Given the description of an element on the screen output the (x, y) to click on. 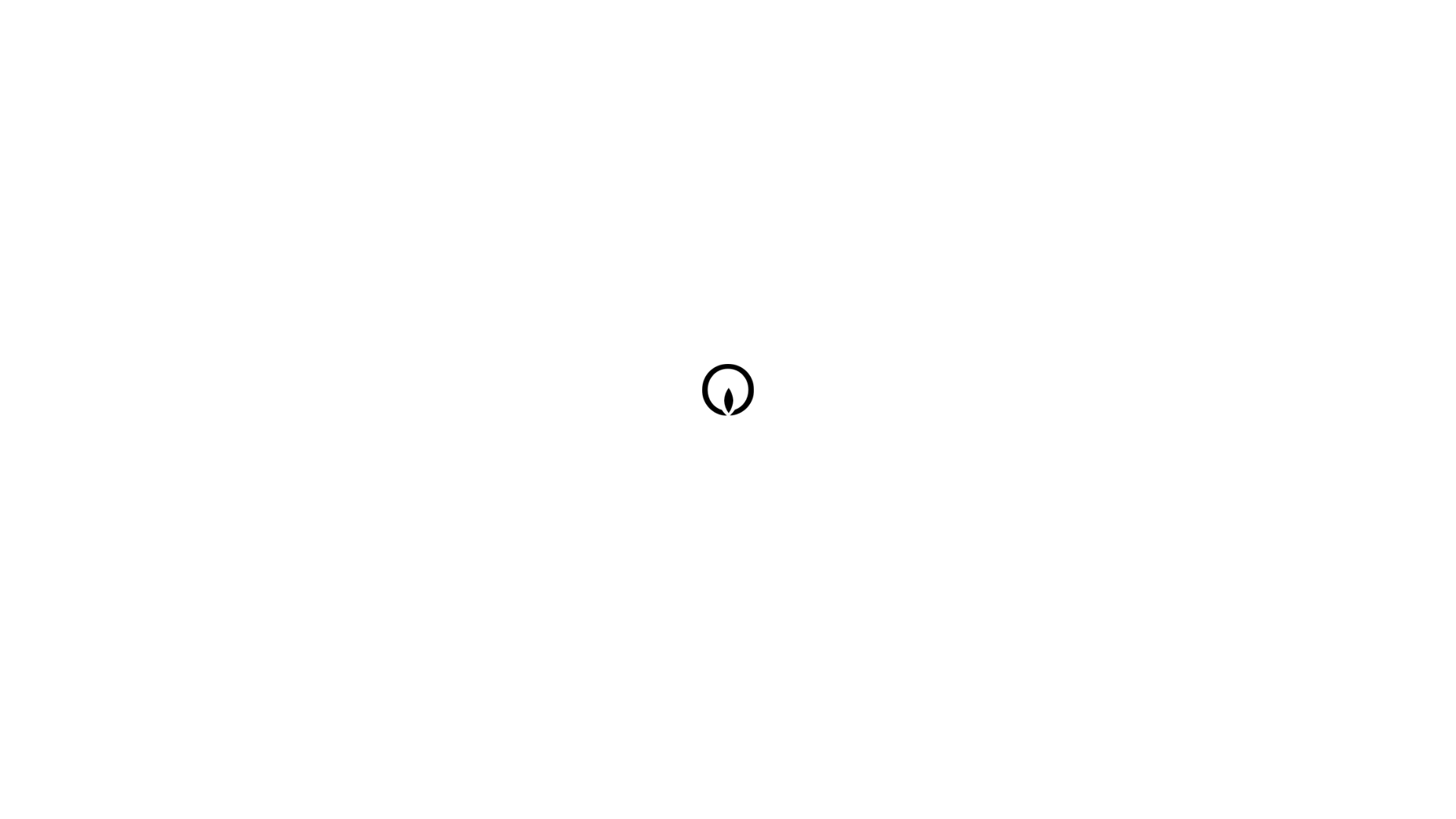
eroma logo Element type: hover (731, 401)
eroma logo Element type: hover (731, 393)
